Given the description of an element on the screen output the (x, y) to click on. 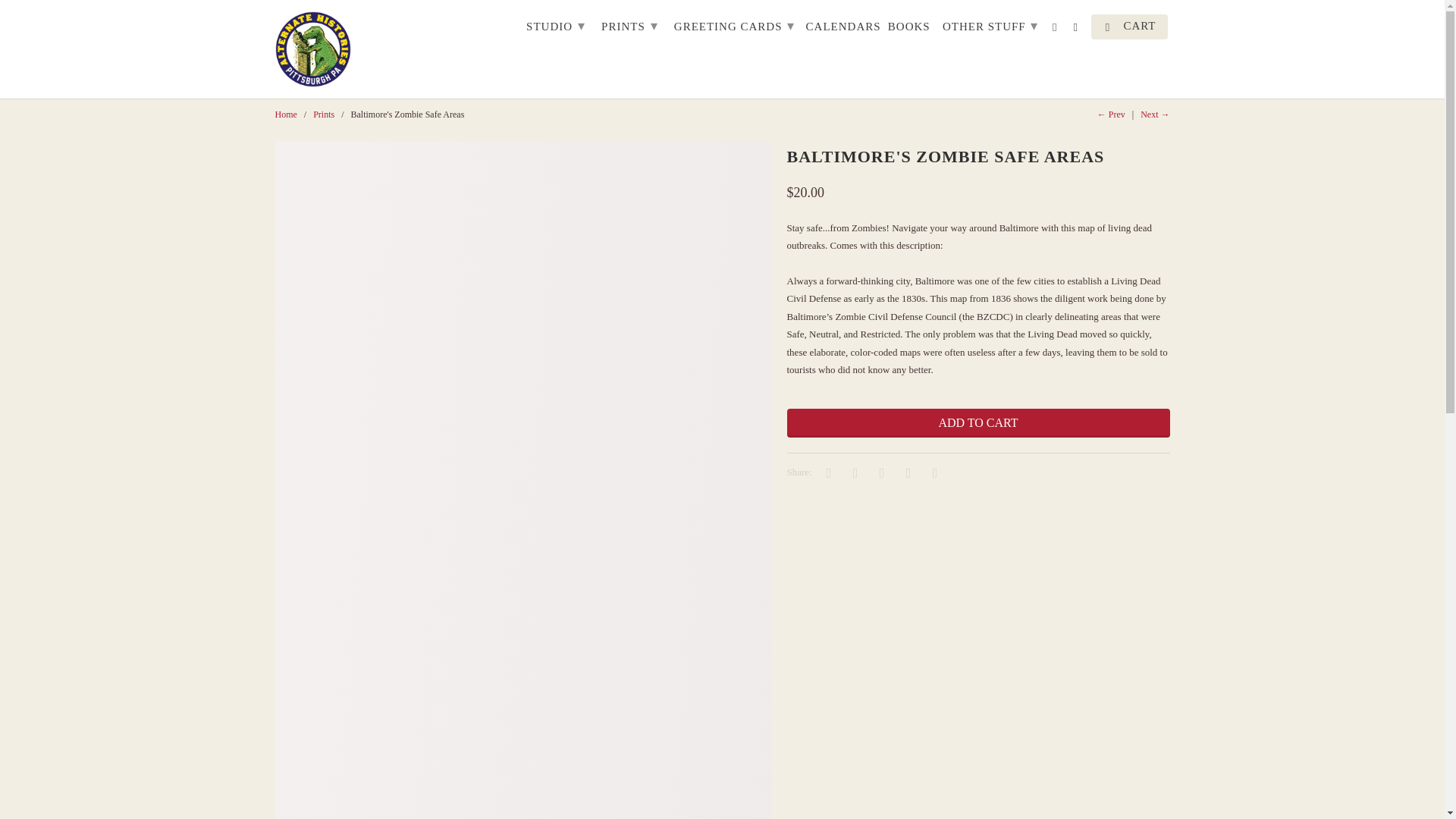
Alternate Histories (286, 113)
Share this on Twitter (825, 472)
Prints (323, 113)
Email this to a friend (932, 472)
Share this on Pinterest (879, 472)
Share this on Facebook (852, 472)
